Given the description of an element on the screen output the (x, y) to click on. 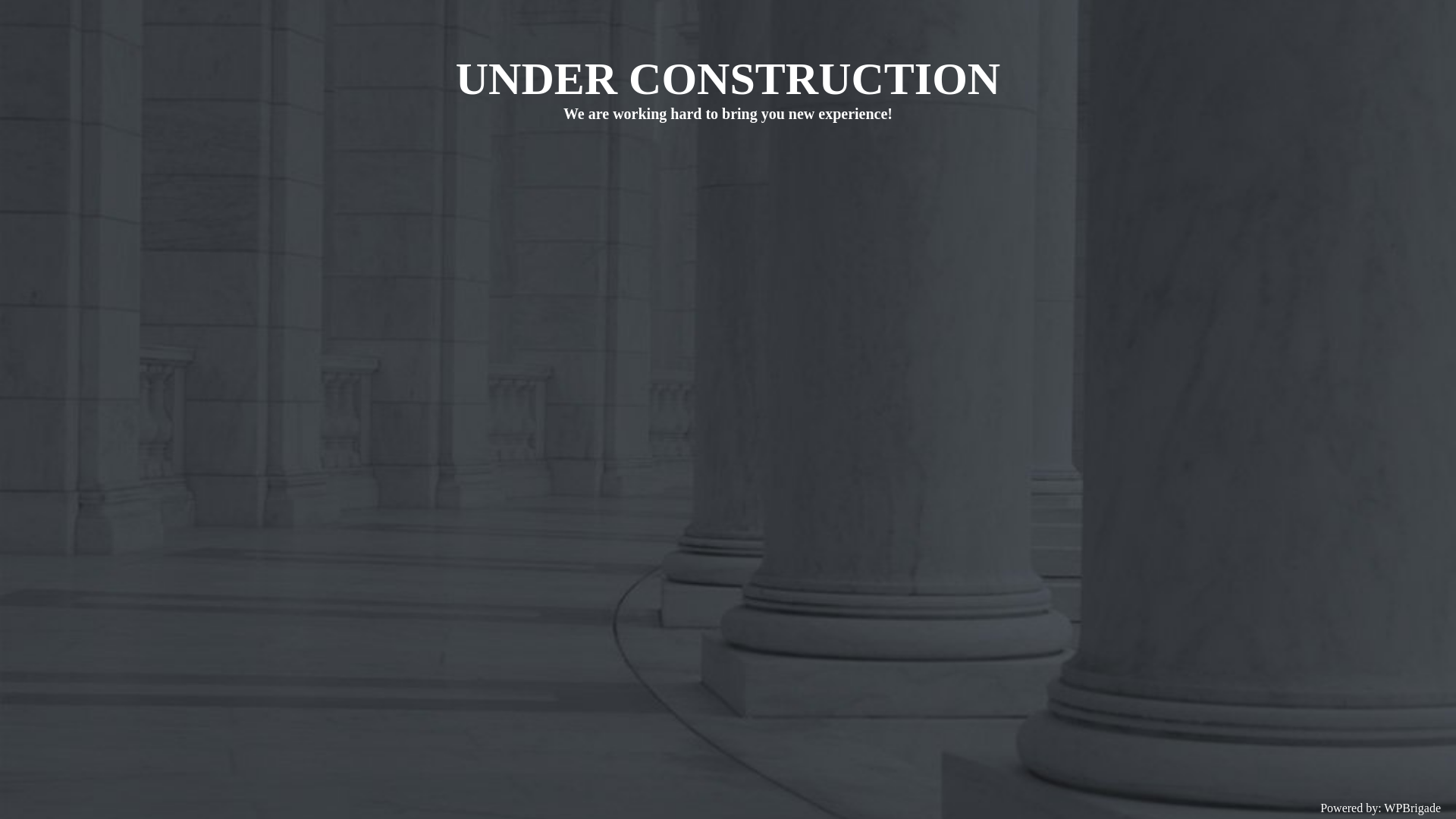
WPBrigade Element type: text (1411, 807)
